Given the description of an element on the screen output the (x, y) to click on. 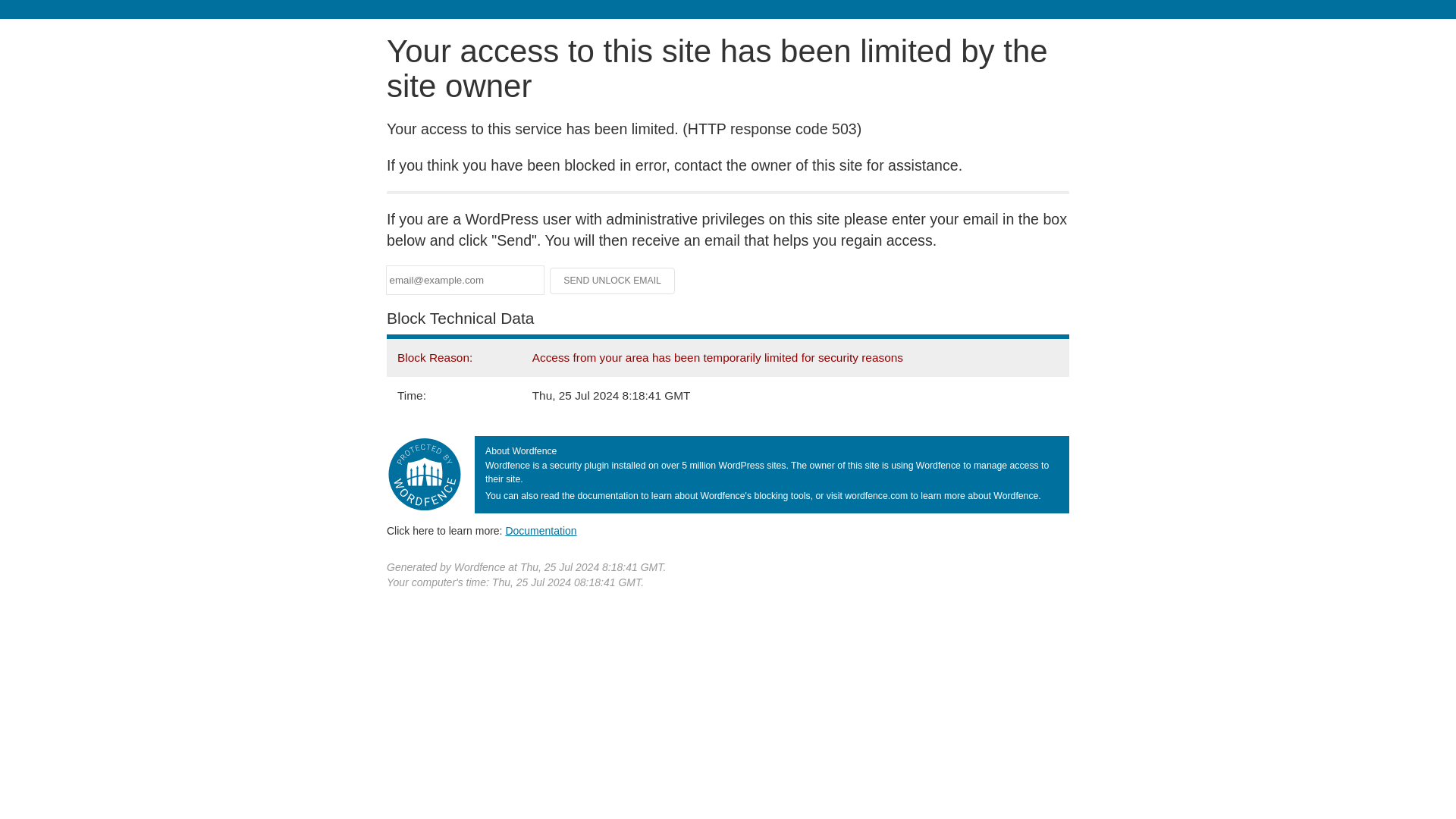
Send Unlock Email (612, 280)
Send Unlock Email (612, 280)
